Given the description of an element on the screen output the (x, y) to click on. 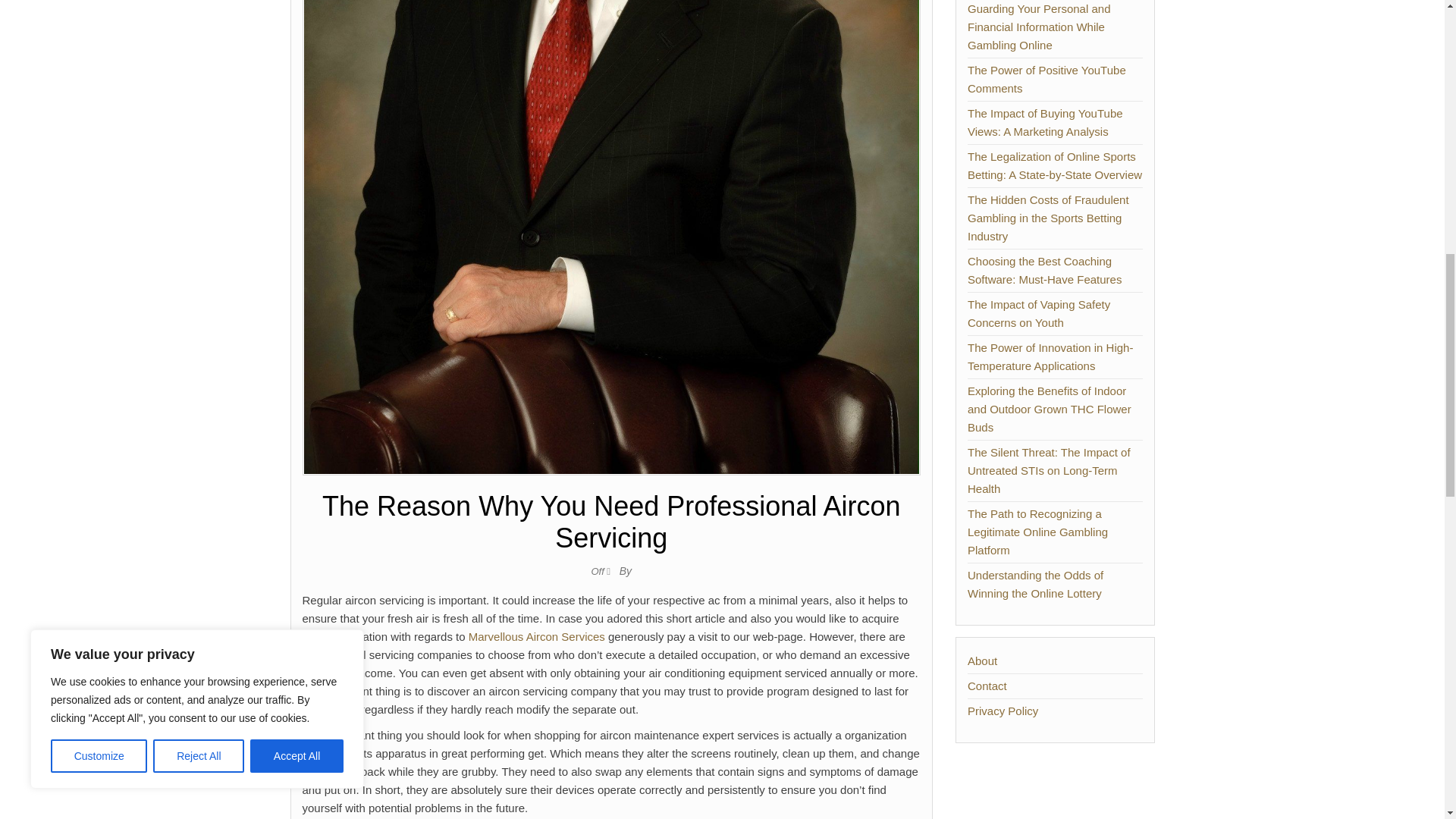
Marvellous Aircon Services (536, 635)
